Given the description of an element on the screen output the (x, y) to click on. 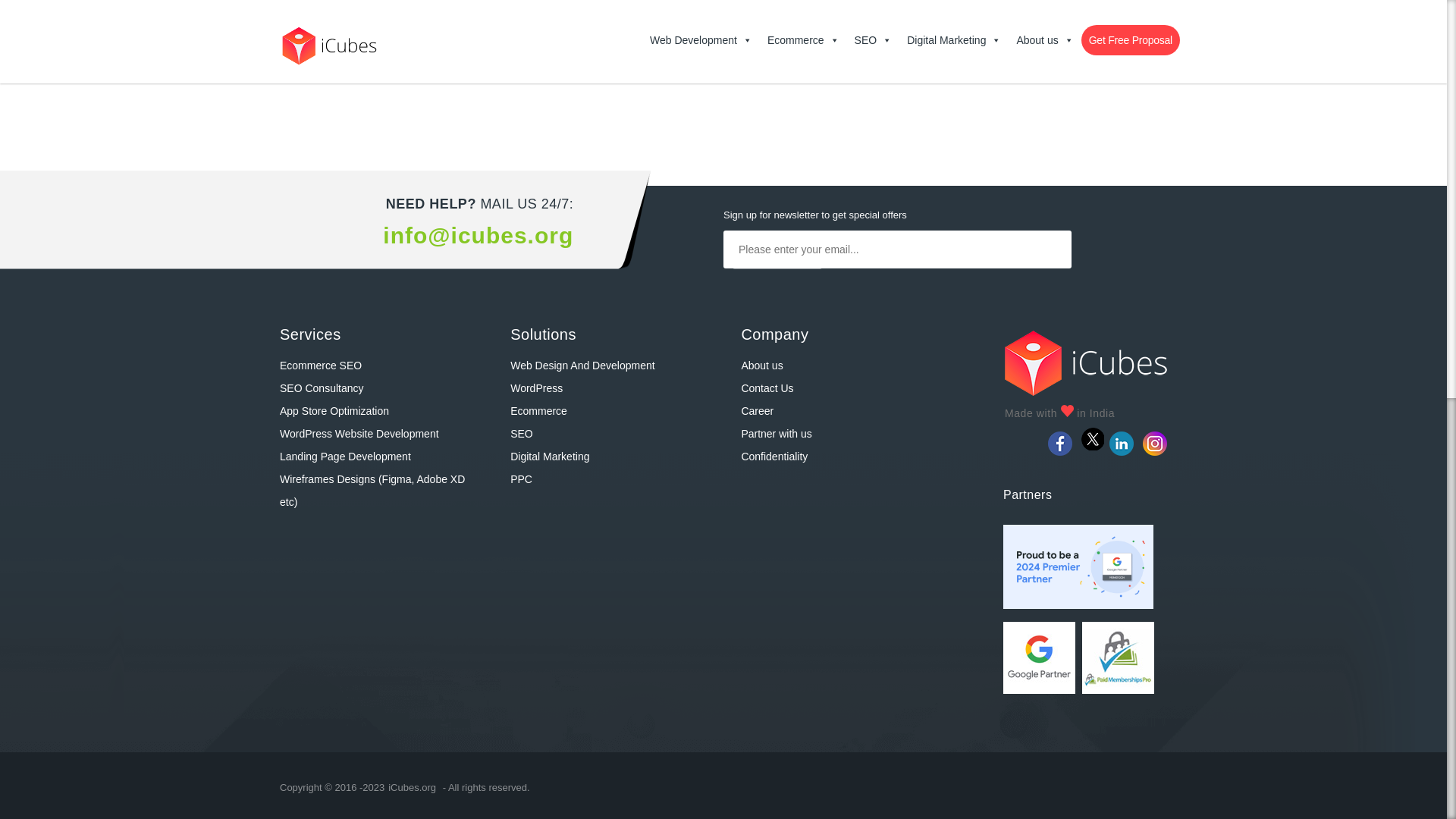
Permalink to What is the key to get top ranking on Google? (1026, 11)
Permalink to Top Tips To Make Website User Friendly (728, 47)
Permalink to Why Landing Page plays an important role? (431, 11)
Permalink to Why Landing Page plays an important role? (431, 47)
Permalink to Top Tips To Make Website User Friendly (728, 11)
Permalink to What is the key to get top ranking on Google? (1026, 47)
Sign Up (777, 287)
